Given the description of an element on the screen output the (x, y) to click on. 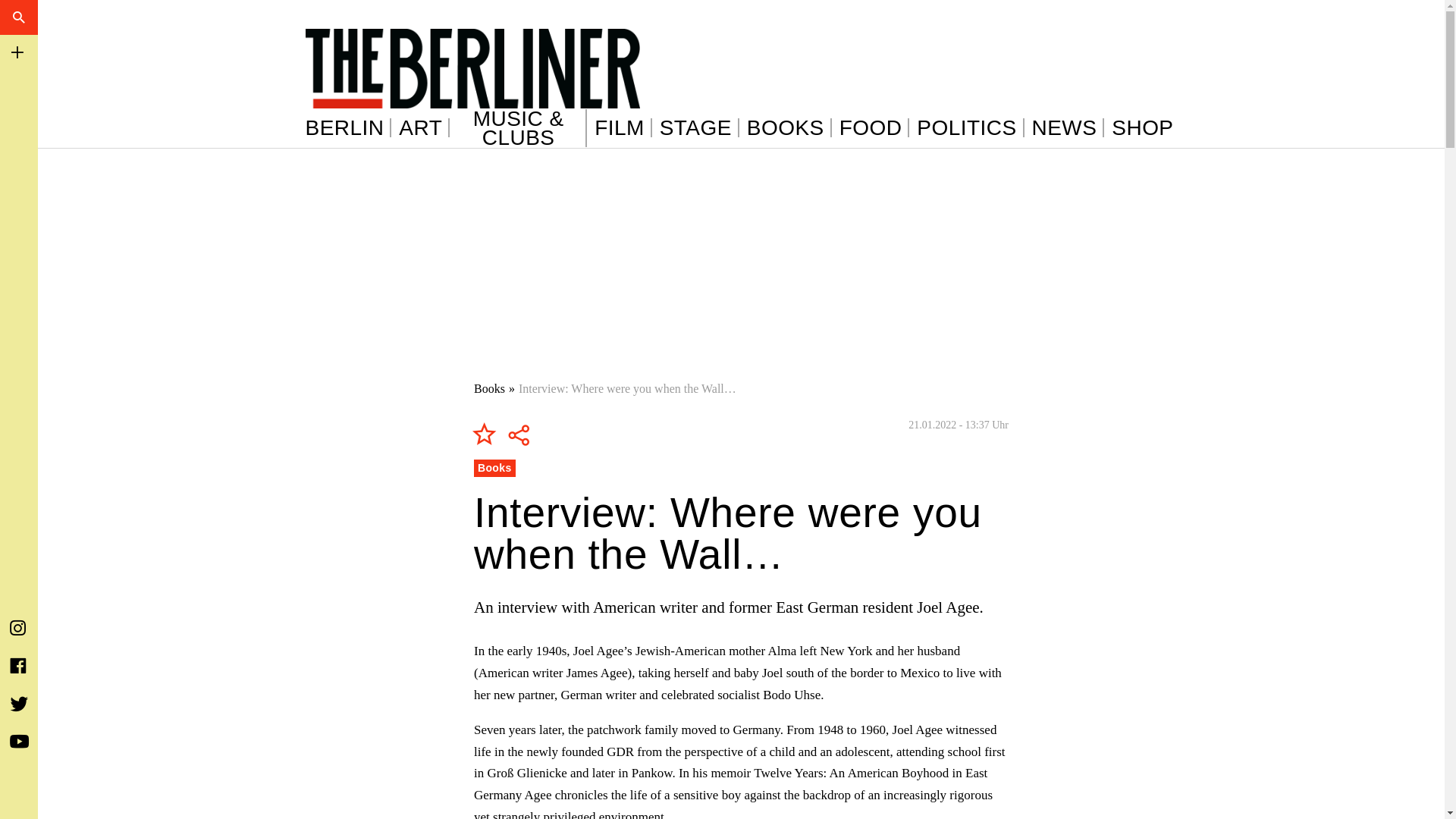
BOOKS (788, 127)
Shop (1142, 127)
ART (423, 127)
Film (623, 127)
SHOP (1142, 127)
FILM (623, 127)
News (1068, 127)
BERLIN (347, 127)
Food (875, 127)
FOOD (875, 127)
